Given the description of an element on the screen output the (x, y) to click on. 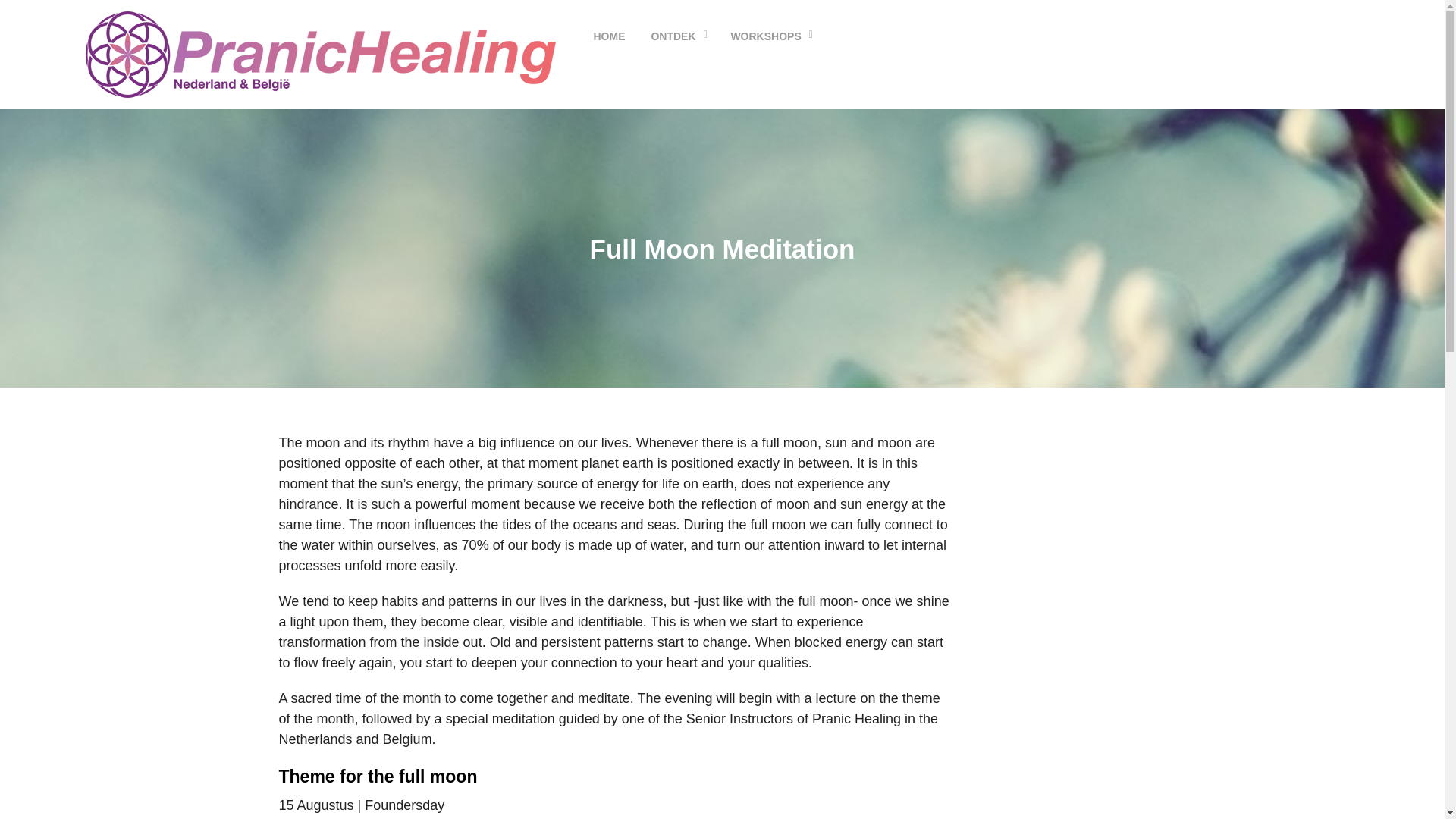
HOME (609, 36)
ONTDEK (672, 36)
WORKSHOPS (765, 36)
